Given the description of an element on the screen output the (x, y) to click on. 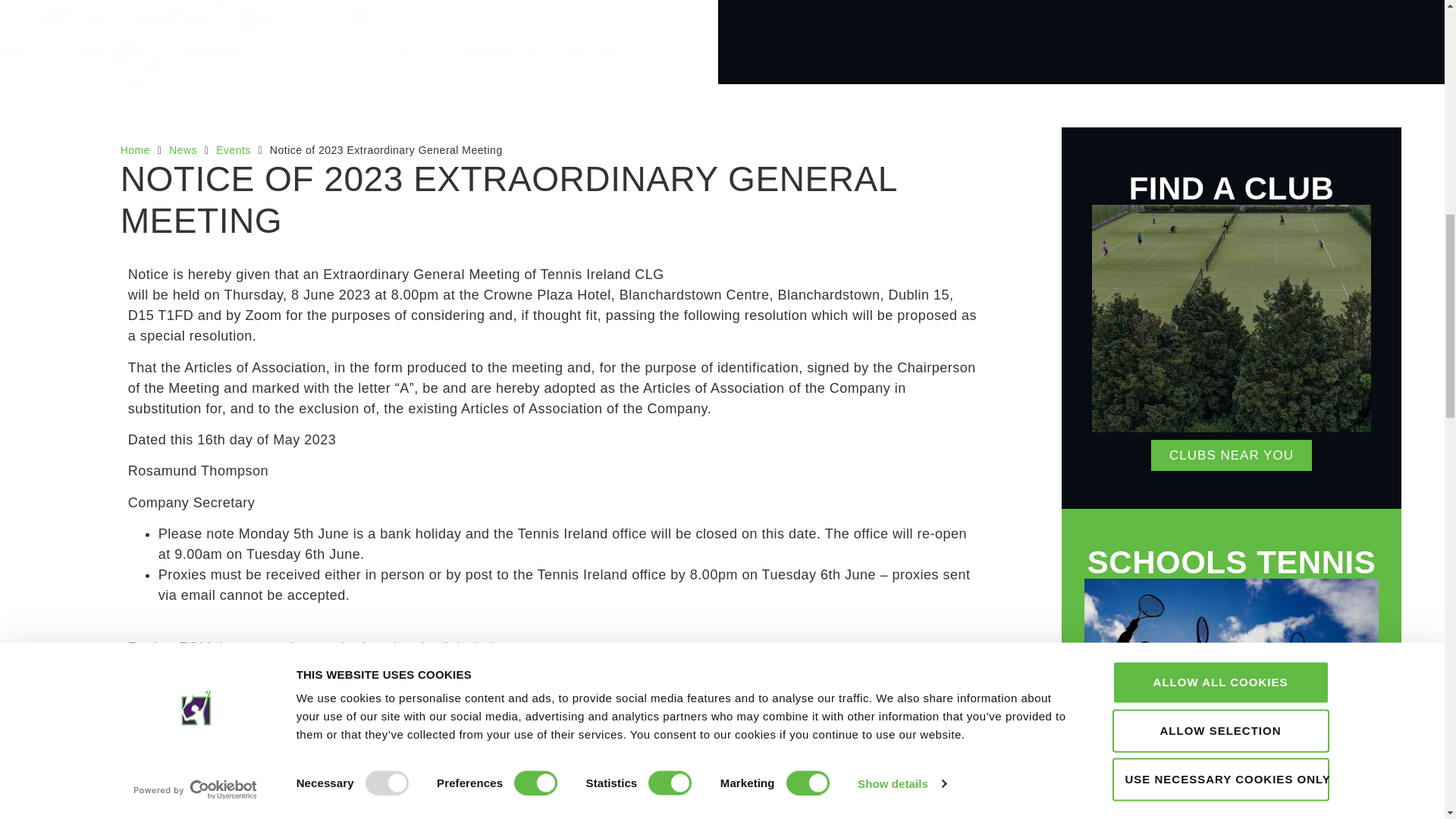
Home (134, 150)
Events (232, 150)
News (182, 150)
